Given the description of an element on the screen output the (x, y) to click on. 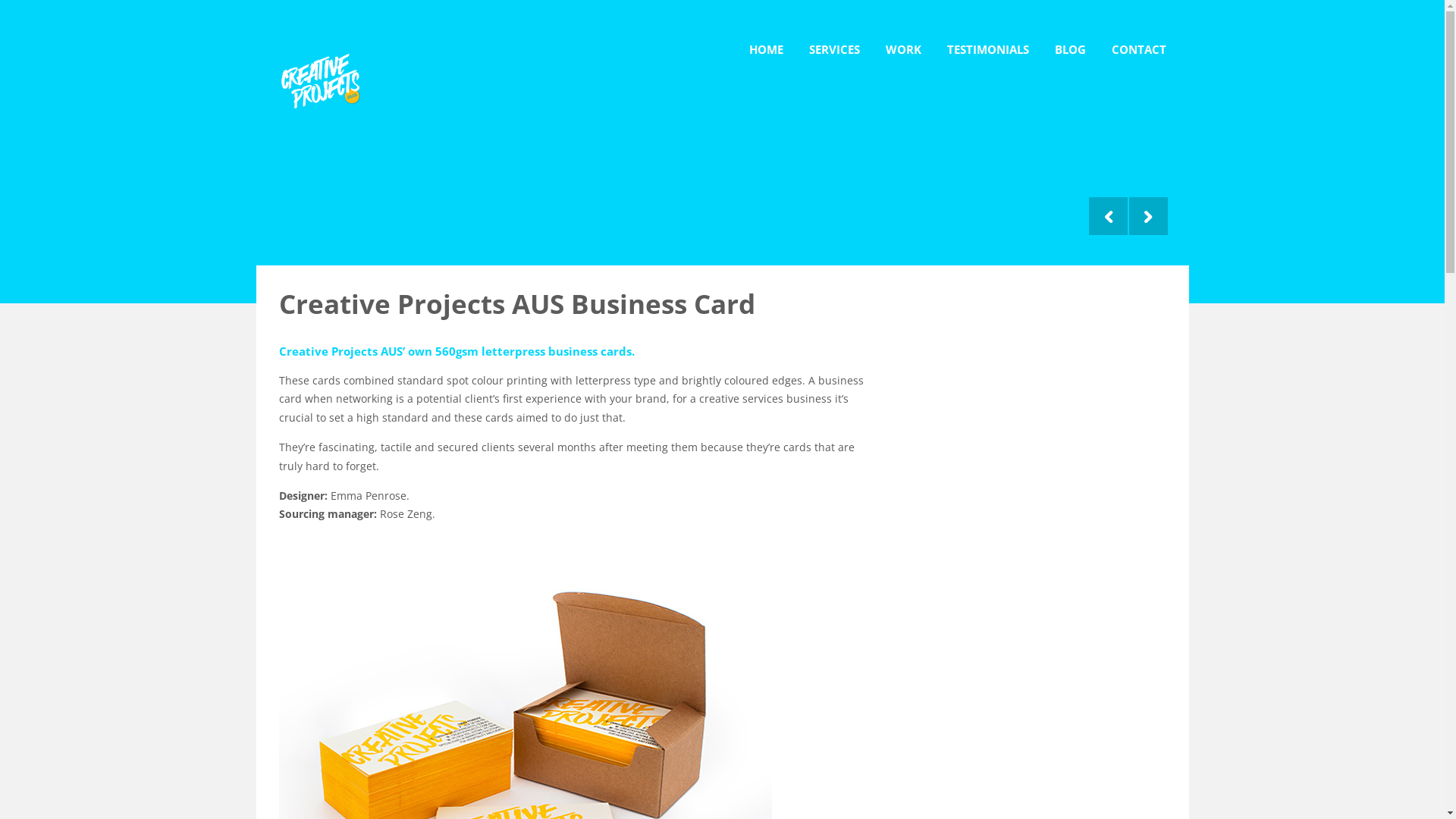
CREATIVE PROJECTS AUS Element type: hover (320, 45)
BLOG Element type: text (1069, 36)
TESTIMONIALS Element type: text (987, 36)
HOME Element type: text (766, 36)
WORK Element type: text (903, 36)
CONTACT Element type: text (1138, 36)
SERVICES Element type: text (833, 36)
